Given the description of an element on the screen output the (x, y) to click on. 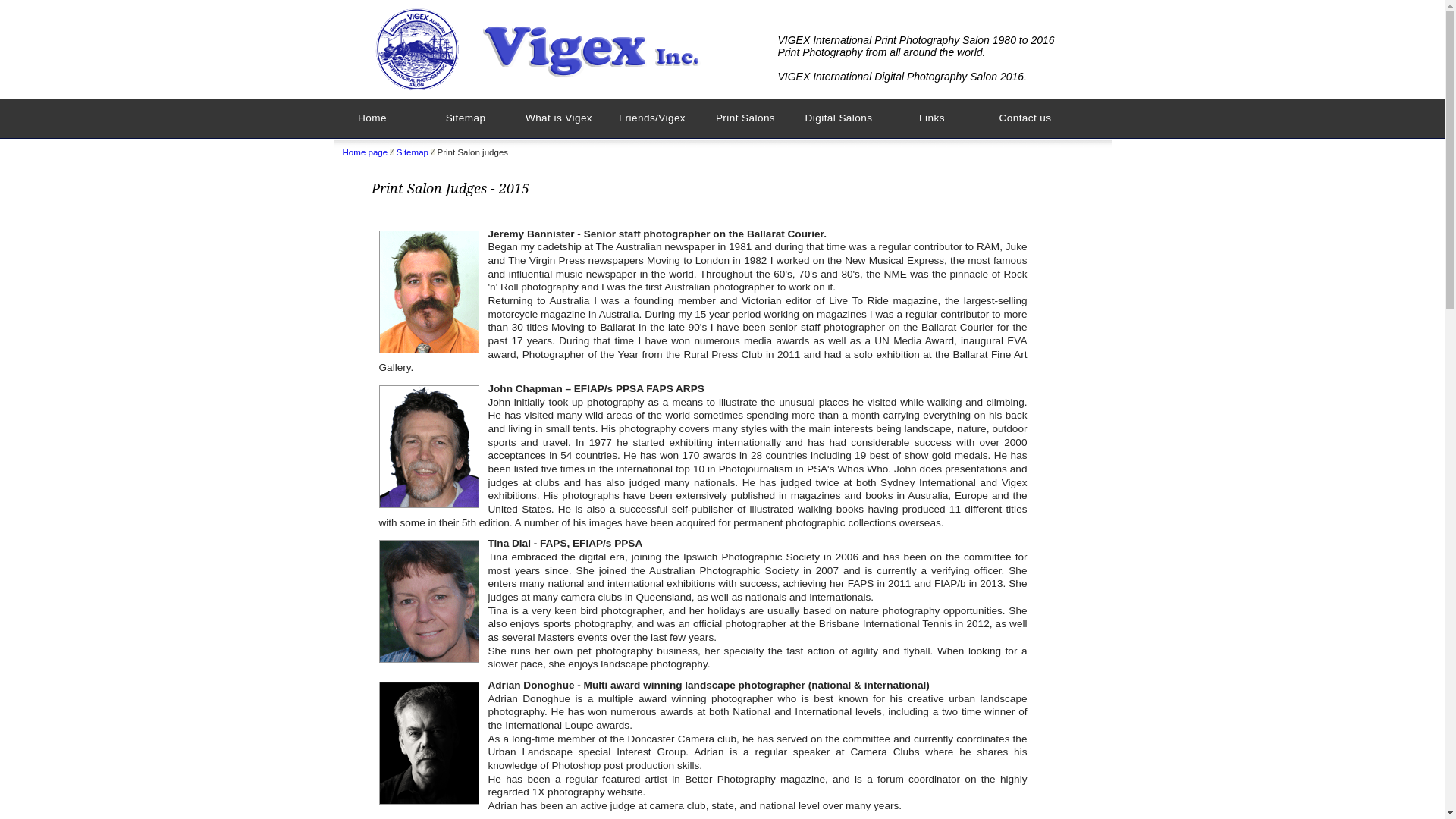
Friends/Vigex Element type: text (651, 118)
Digital Salons Element type: text (837, 118)
Print Salons Element type: text (745, 118)
Contact us Element type: text (1024, 118)
Home page Element type: text (365, 151)
Sitemap Element type: text (412, 151)
Sitemap Element type: text (464, 118)
What is Vigex Element type: text (558, 118)
Home Element type: text (372, 118)
Links Element type: text (932, 118)
